Given the description of an element on the screen output the (x, y) to click on. 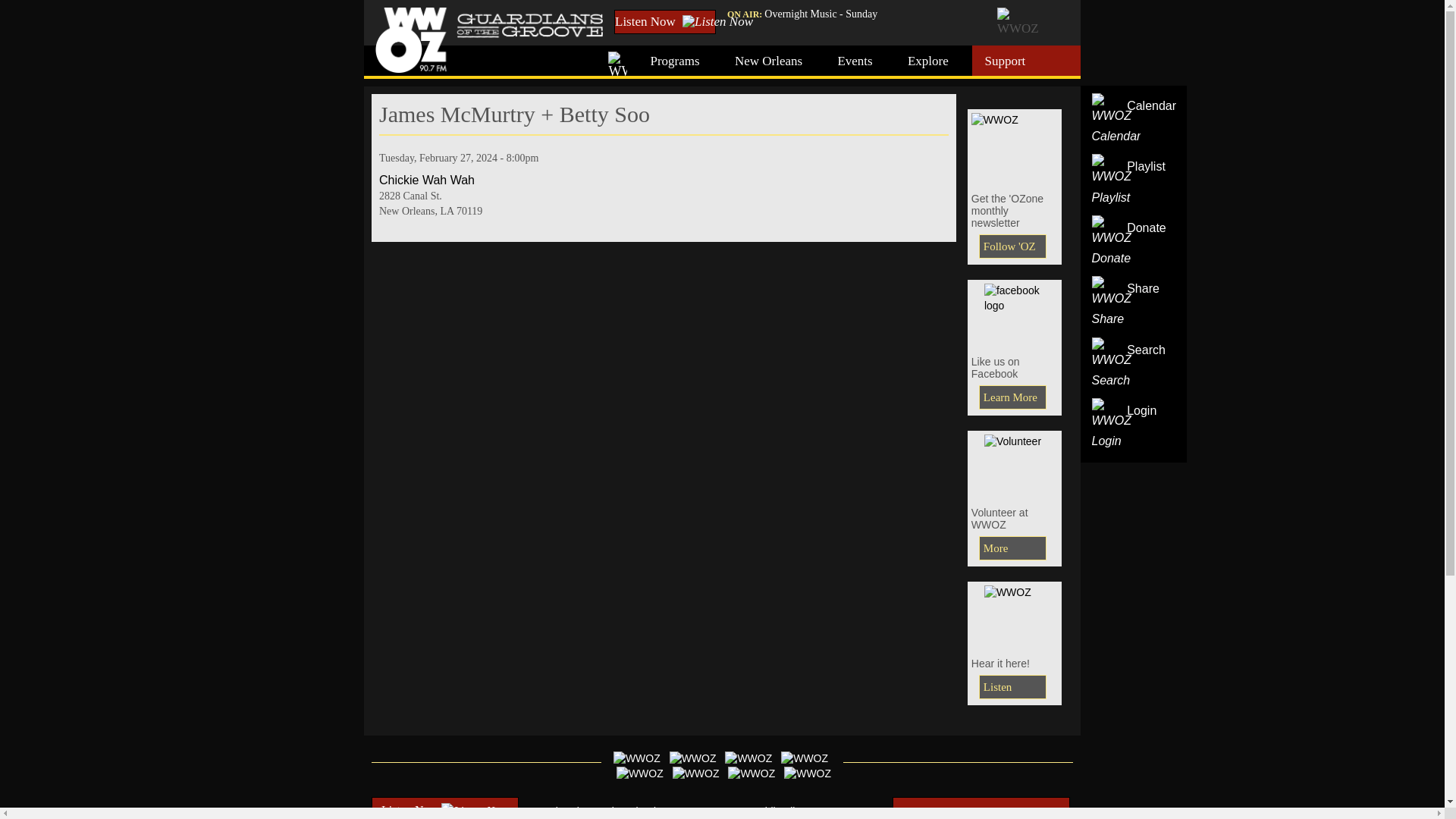
Overnight Music - Sunday (820, 13)
Get the 'OZone monthly newsletter (1012, 246)
Listen Now (665, 21)
Listen Live (1012, 686)
Volunteer (1012, 548)
Facebook (1014, 314)
WWOZ Calendar (1116, 119)
Listen Live (1014, 615)
Facebook (1012, 396)
Get the 'OZone monthly newsletter (1014, 146)
